Given the description of an element on the screen output the (x, y) to click on. 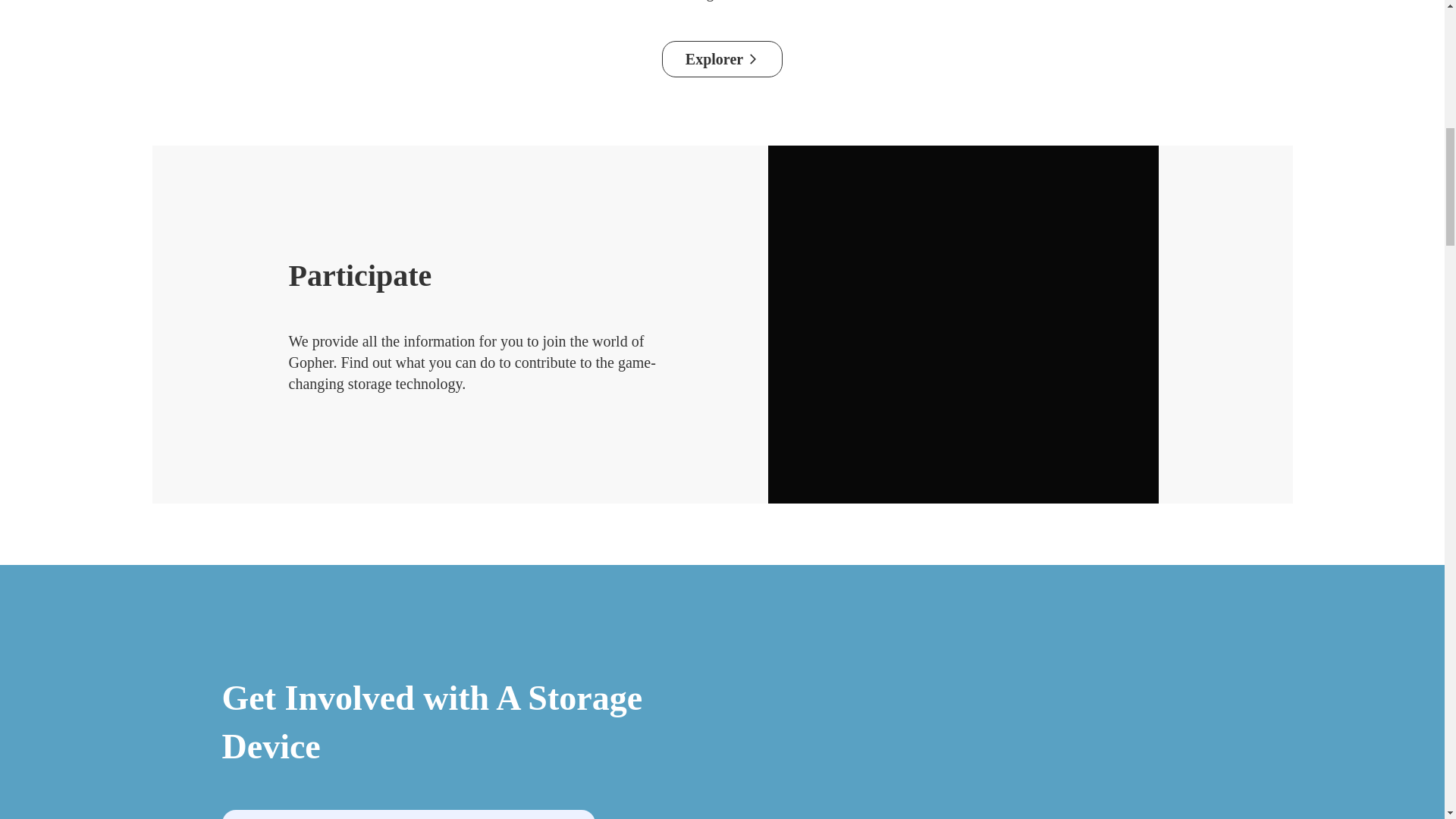
Explorer (722, 58)
Provide Storage for Gopher Network (408, 814)
